Given the description of an element on the screen output the (x, y) to click on. 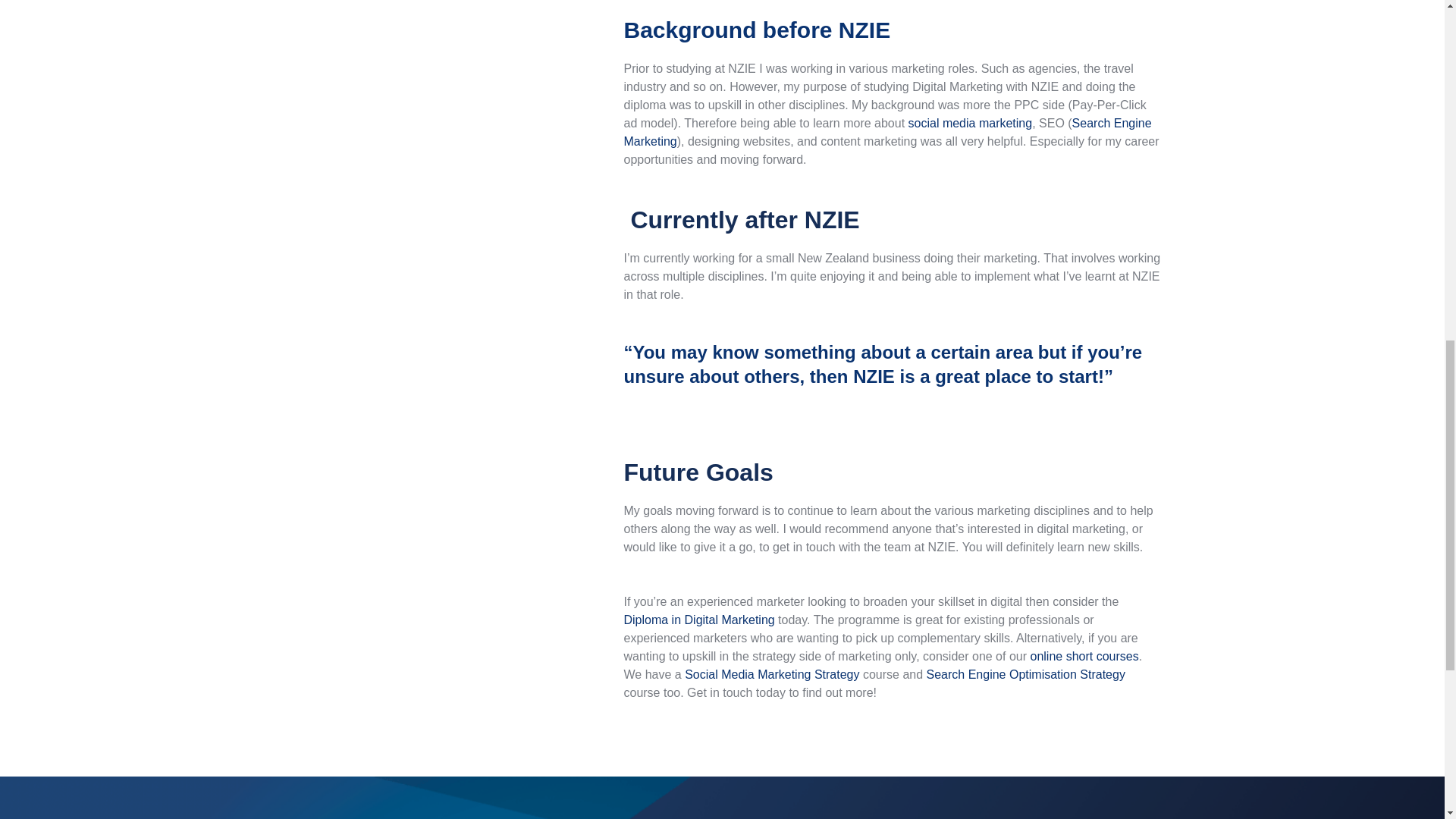
Diploma in Digital Marketing (698, 619)
Social Media Marketing Strategy (771, 674)
online short courses (1083, 656)
social media marketing (970, 123)
Search Engine Marketing (887, 132)
Search Engine Optimisation Strategy (1025, 674)
